Given the description of an element on the screen output the (x, y) to click on. 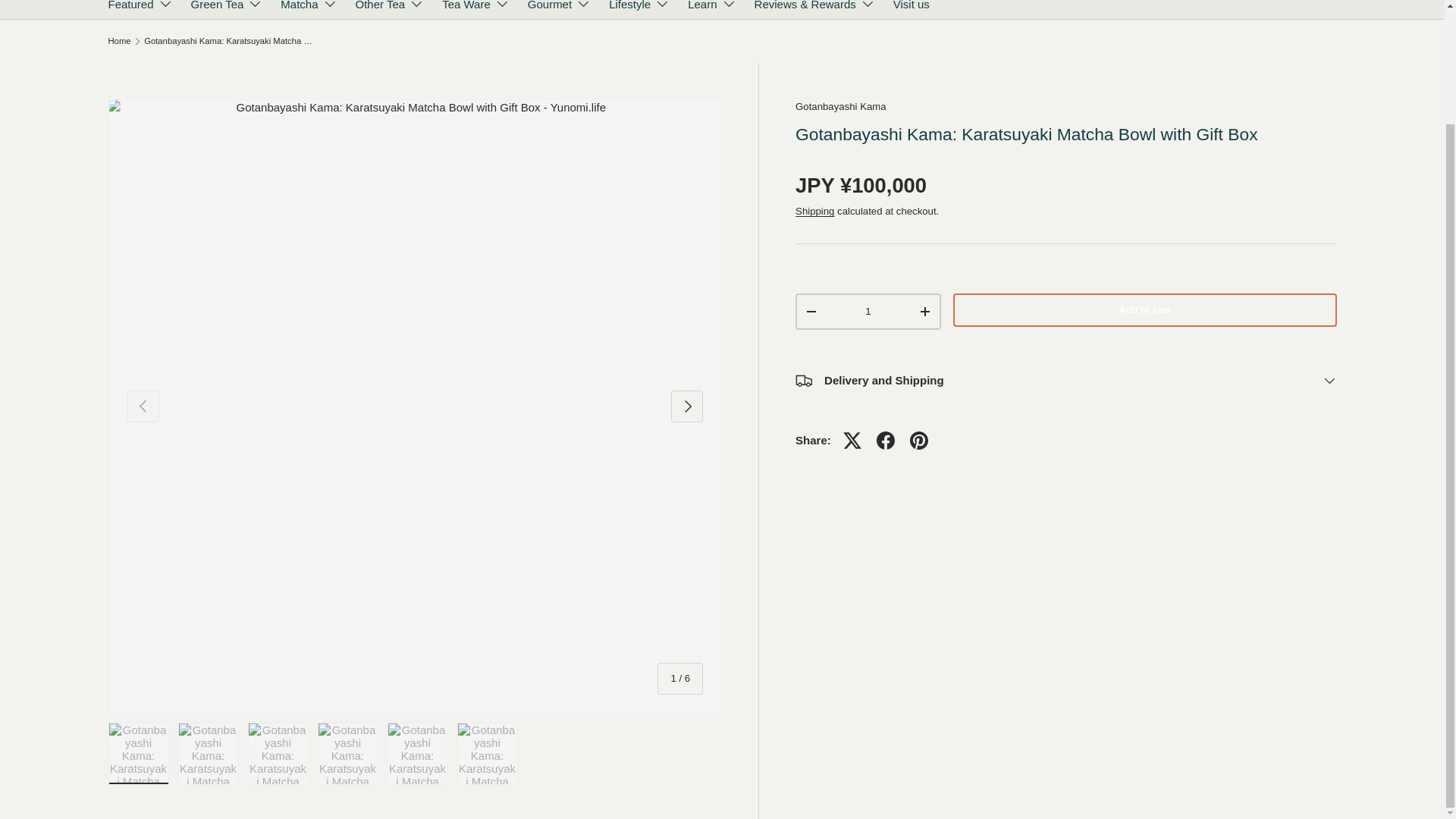
Green Tea (226, 9)
Pin on Pinterest (919, 440)
Featured (139, 9)
Tweet on X (852, 440)
Share on Facebook (885, 440)
1 (868, 311)
